Given the description of an element on the screen output the (x, y) to click on. 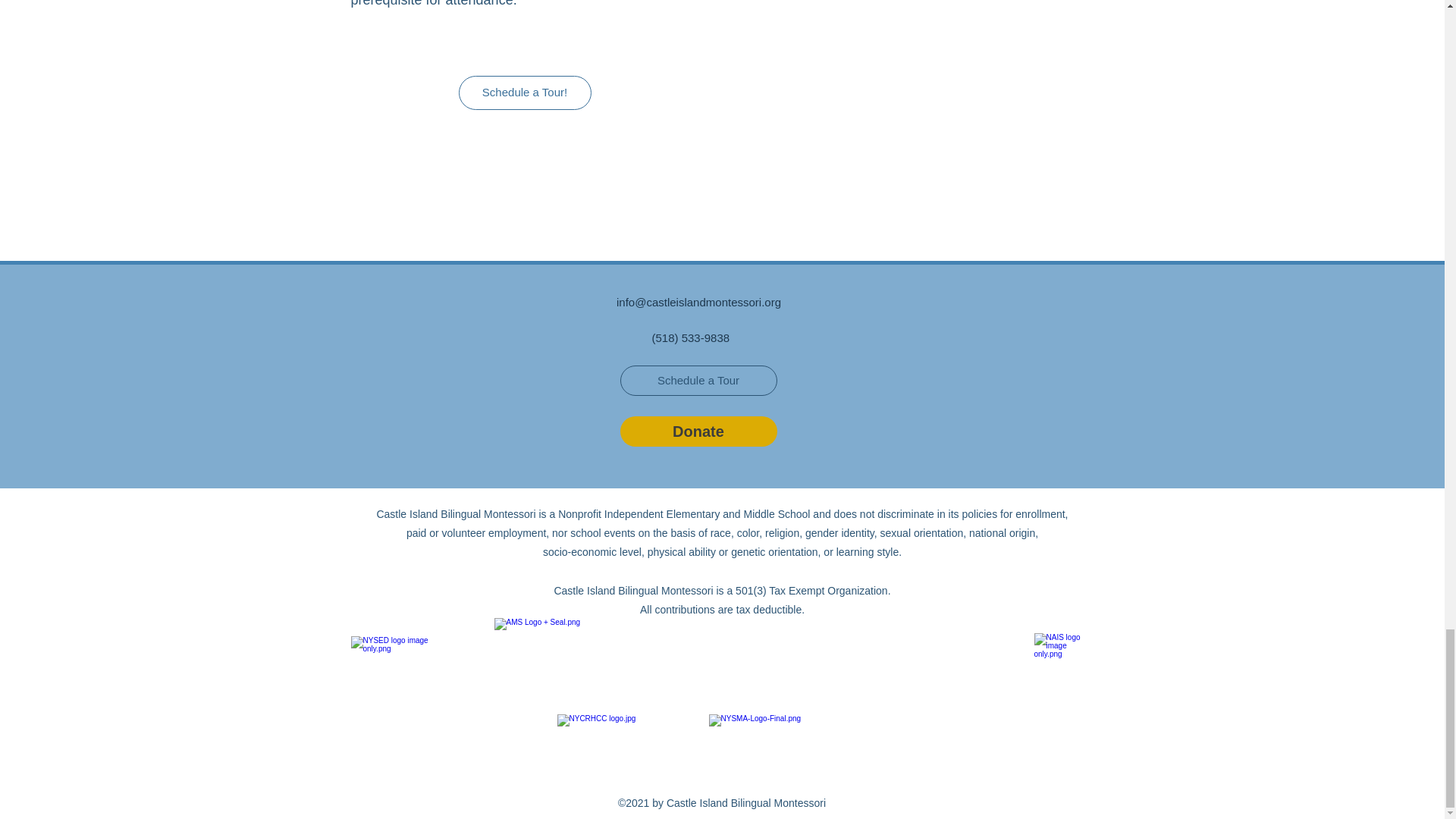
Donate (698, 431)
Schedule a Tour! (524, 92)
Schedule a Tour (698, 380)
